Given the description of an element on the screen output the (x, y) to click on. 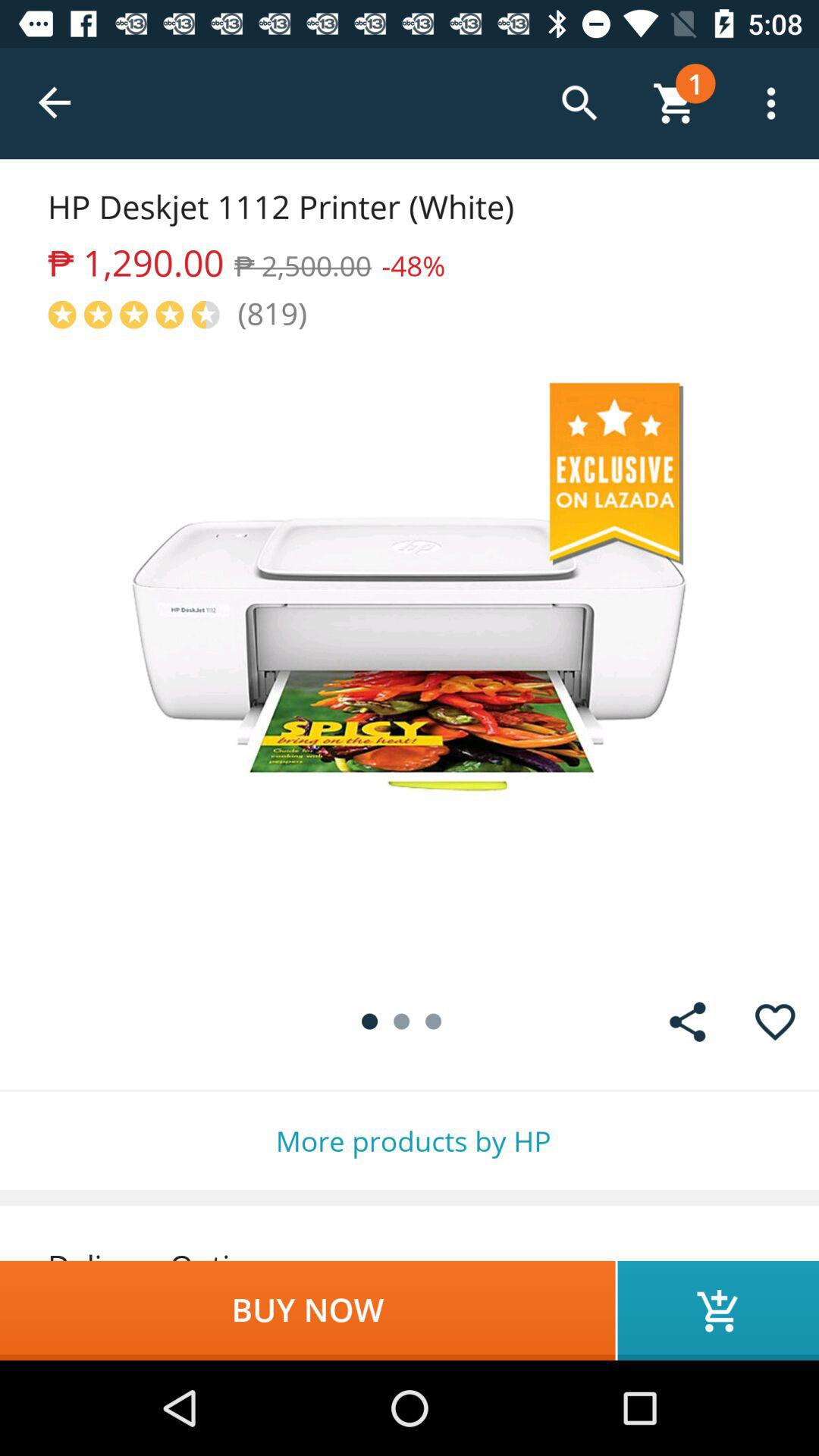
select the icon next to the buy now (718, 1310)
